Given the description of an element on the screen output the (x, y) to click on. 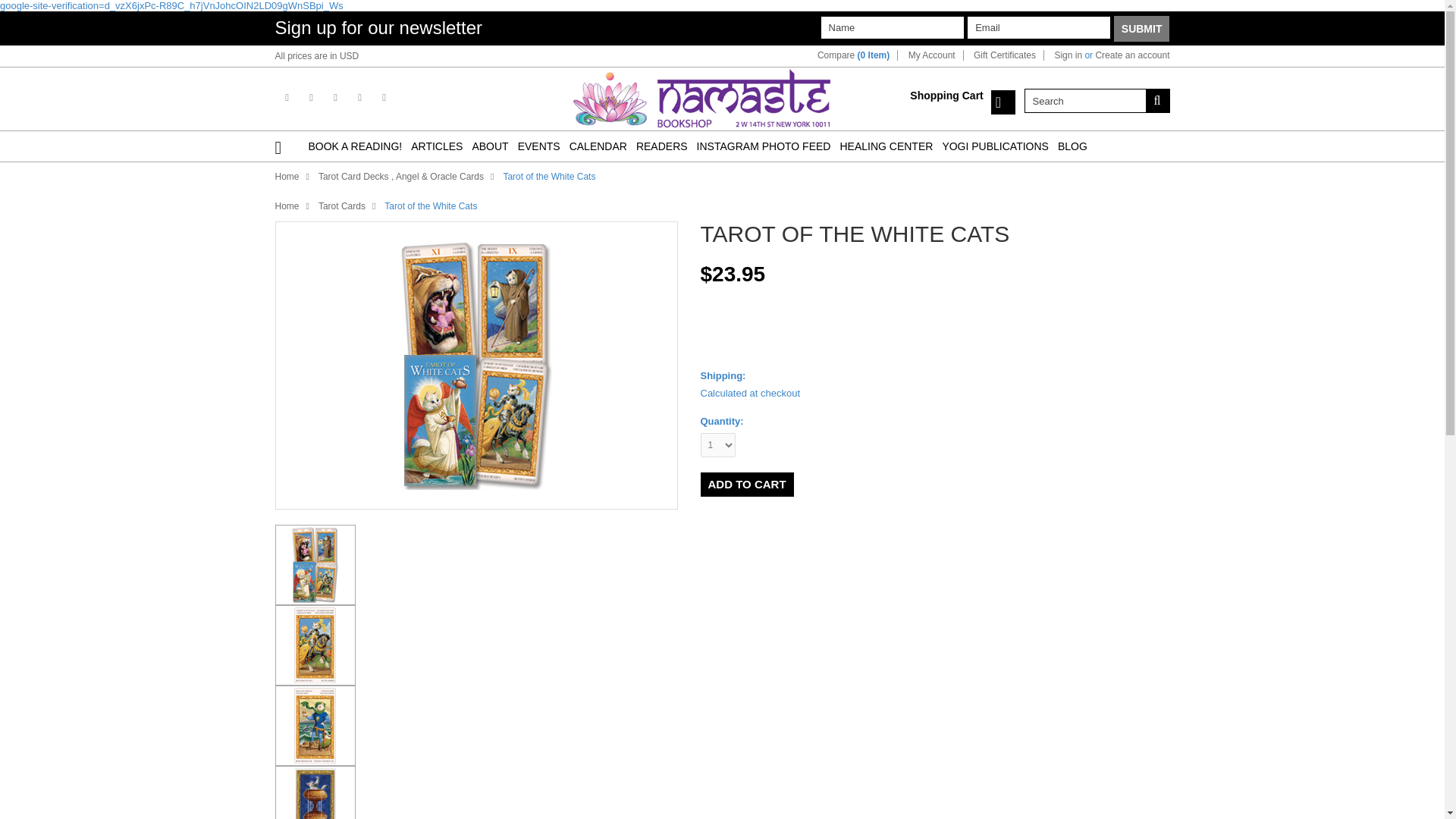
READERS (661, 146)
ABOUT (489, 146)
Add To Cart (746, 484)
BOOK A READING! (354, 146)
All prices are in USD (316, 55)
Submit (1141, 28)
Search (1083, 100)
Sign in (1067, 54)
Search (1156, 100)
Gift Certificates (1004, 54)
ARTICLES (436, 146)
EVENTS (539, 146)
My Account (931, 54)
US Dollar (348, 55)
CALENDAR (598, 146)
